Given the description of an element on the screen output the (x, y) to click on. 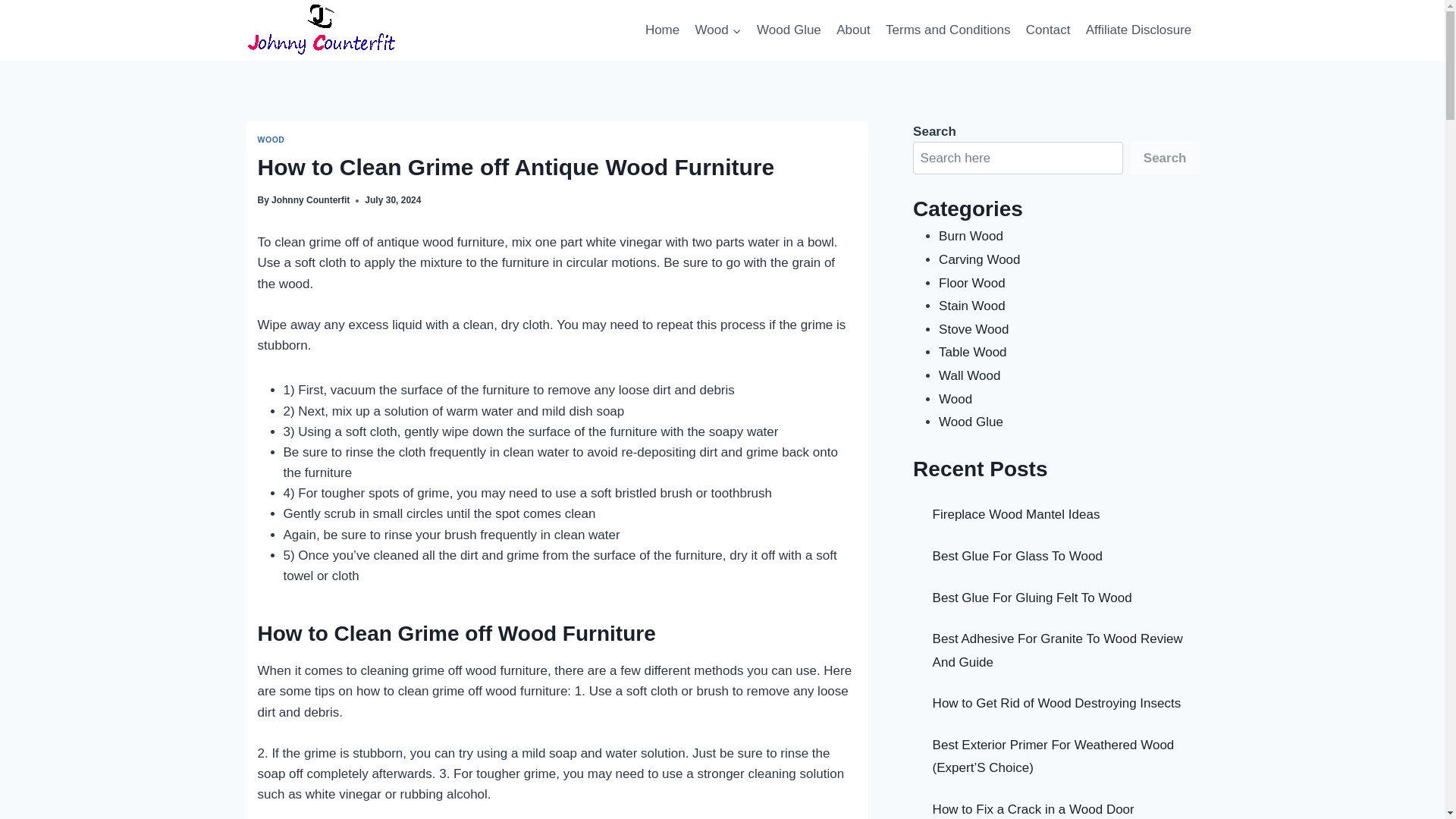
Contact (1047, 30)
WOOD (271, 139)
Terms and Conditions (947, 30)
About (852, 30)
Johnny Counterfit (309, 199)
Wood (717, 30)
Home (662, 30)
Affiliate Disclosure (1138, 30)
Wood Glue (788, 30)
